Given the description of an element on the screen output the (x, y) to click on. 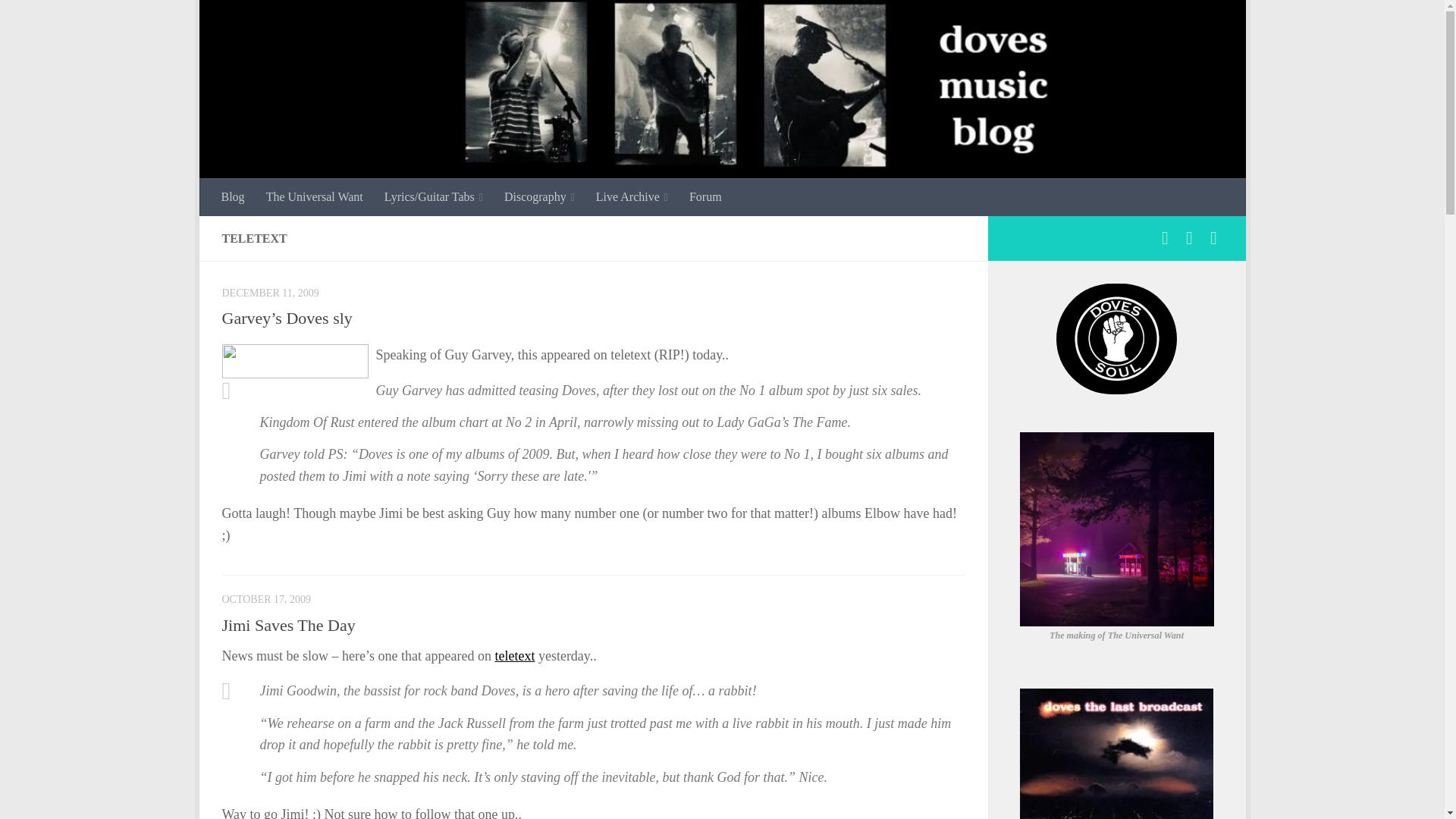
Follow us on Instagram (1188, 238)
Follow us on Twitter (1213, 238)
The Universal Want (315, 197)
Blog (233, 197)
Skip to content (258, 20)
